Given the description of an element on the screen output the (x, y) to click on. 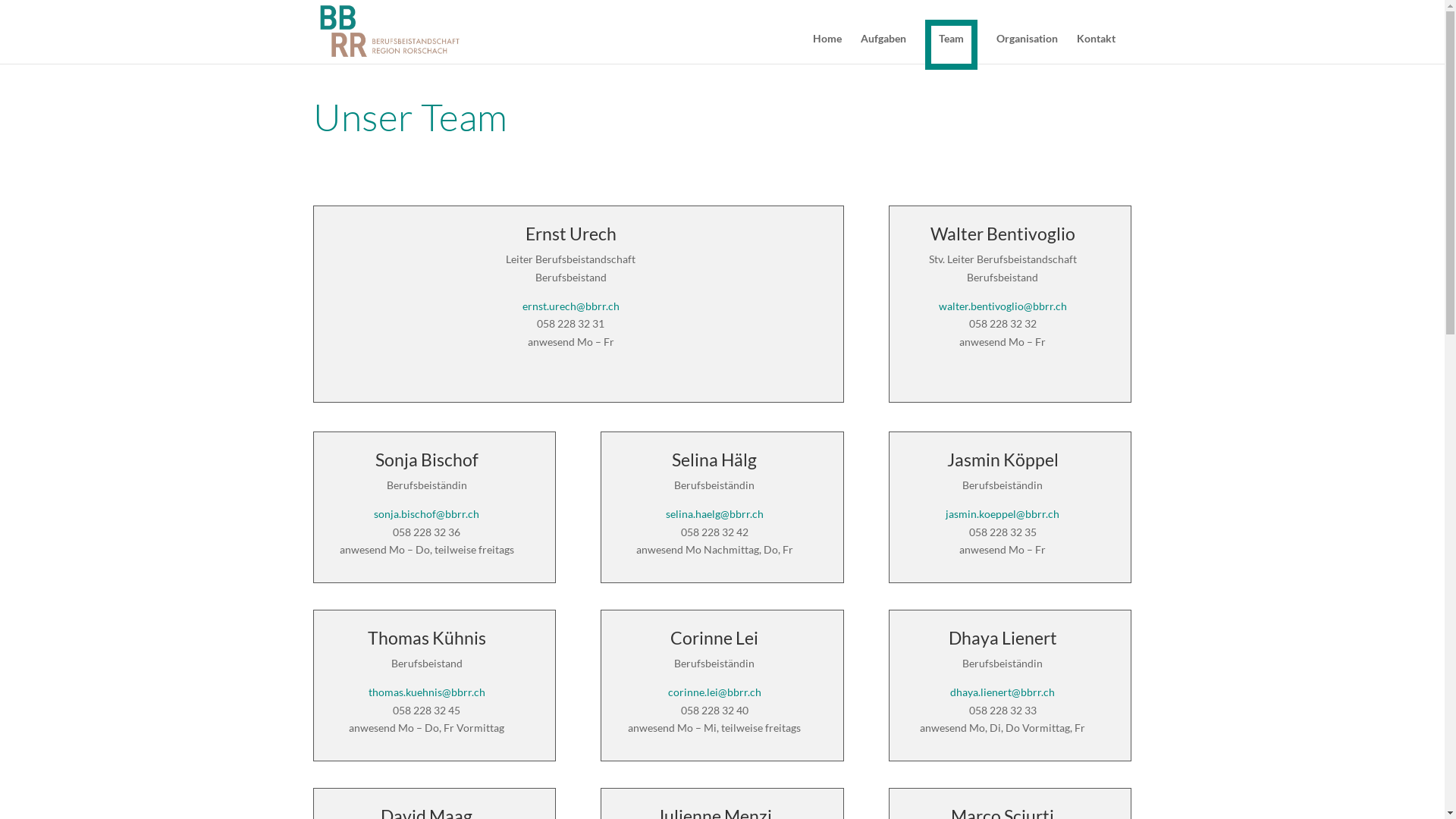
ernst.urech@bbrr.ch Element type: text (570, 305)
walter.bentivoglio@bbrr.ch Element type: text (1002, 305)
corinne.lei@bbrr.ch Element type: text (714, 691)
sonja.bischof@bbrr.ch Element type: text (426, 513)
Aufgaben Element type: text (882, 48)
Organisation Element type: text (1026, 48)
jasmin.koeppel@bbrr.ch Element type: text (1002, 513)
dhaya.lienert@bbrr.ch Element type: text (1002, 691)
selina.haelg@bbrr.ch Element type: text (714, 513)
Team Element type: text (951, 44)
thomas.kuehnis@bbrr.ch Element type: text (426, 691)
Kontakt Element type: text (1095, 48)
Home Element type: text (826, 48)
